Given the description of an element on the screen output the (x, y) to click on. 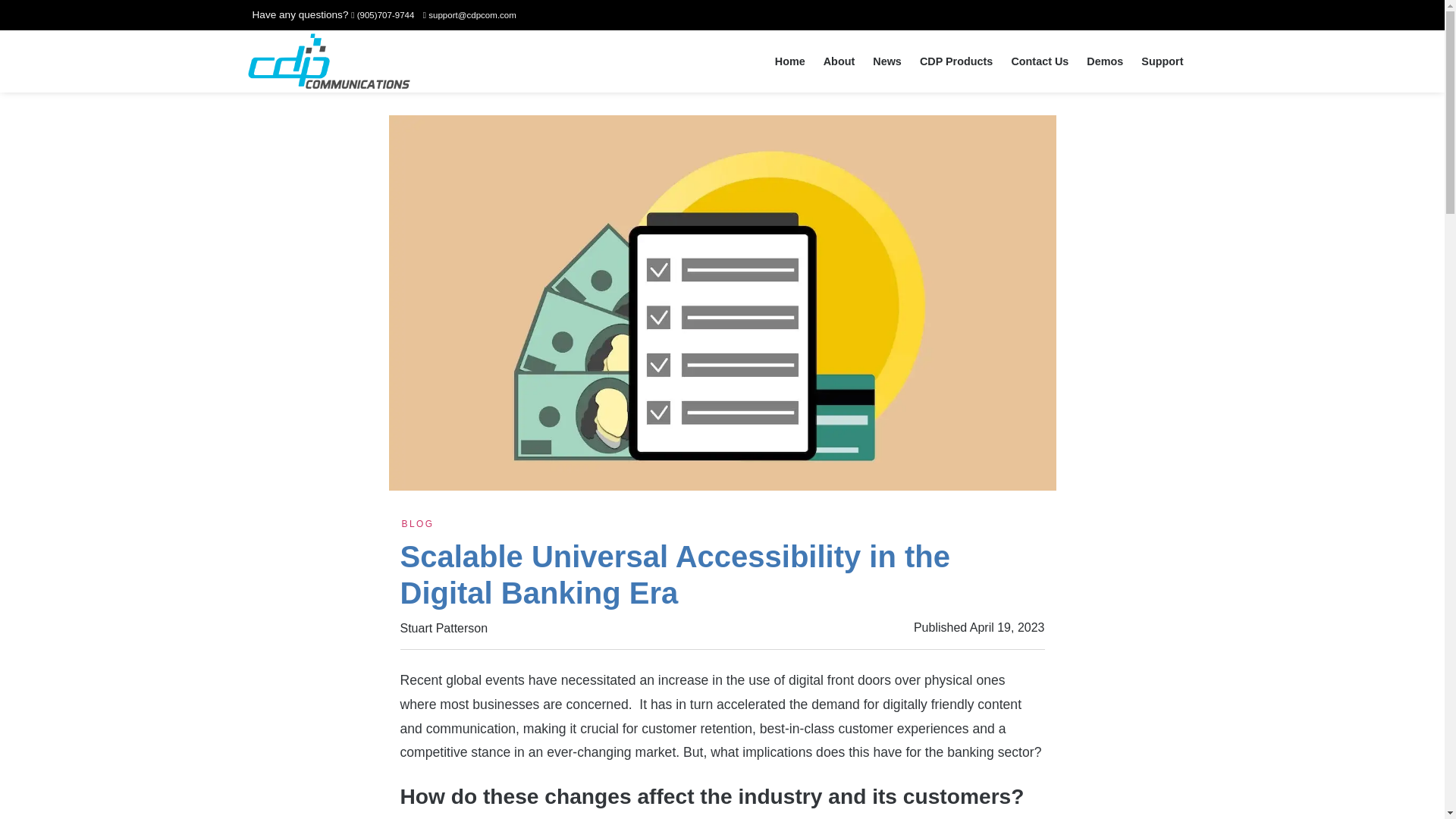
About (838, 61)
News (887, 61)
Contact Us (1039, 61)
Home (789, 61)
CDP Products (957, 61)
